Given the description of an element on the screen output the (x, y) to click on. 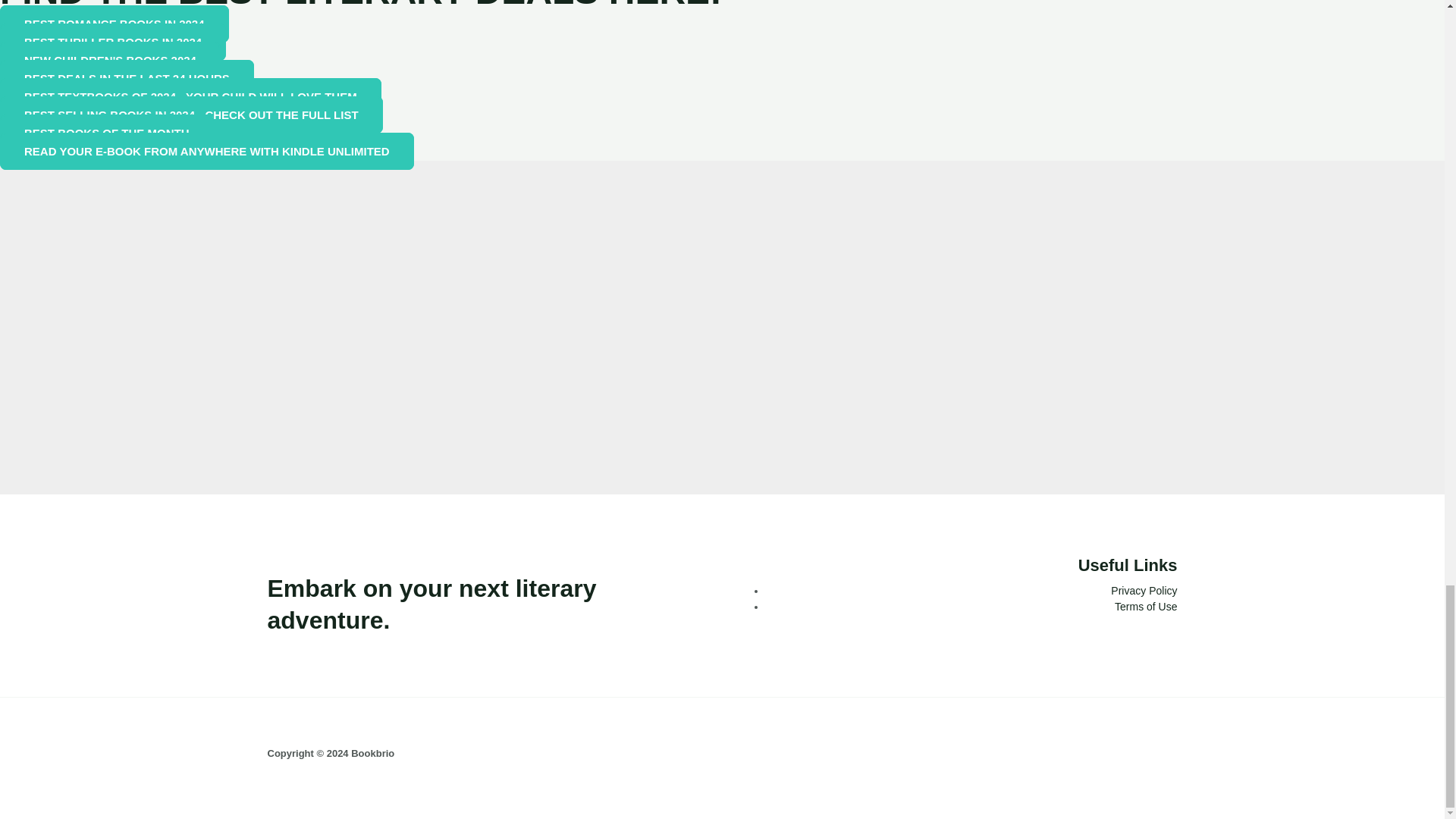
BEST DEALS IN THE LAST 24 HOURS (126, 78)
BEST ROMANCE BOOKS IN 2024 (114, 23)
Terms of Use (1145, 606)
NEW CHILDREN'S BOOKS 2024 (110, 59)
BEST THRILLER BOOKS IN 2024 (112, 41)
BEST TEXTBOOKS OF 2024 - YOUR CHILD WILL LOVE THEM (190, 96)
BEST-SELLING BOOKS IN 2024 - CHECK OUT THE FULL LIST (191, 114)
READ YOUR E-BOOK FROM ANYWHERE WITH KINDLE UNLIMITED (206, 150)
Privacy Policy (1143, 590)
BEST BOOKS OF THE MONTH (107, 132)
